Given the description of an element on the screen output the (x, y) to click on. 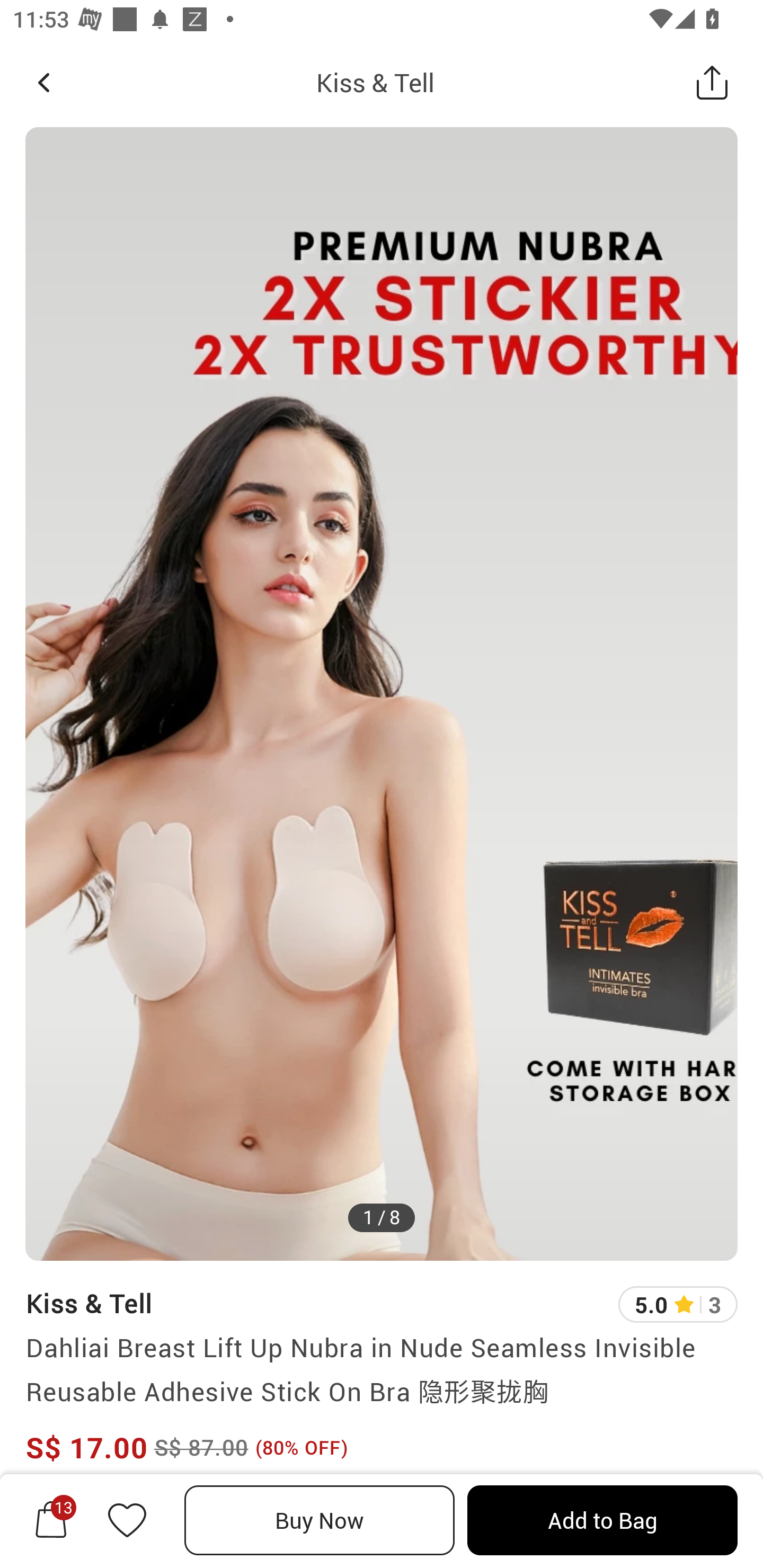
Kiss & Tell (375, 82)
Share this Product (711, 82)
Kiss & Tell (88, 1302)
5.0 3 (677, 1304)
Buy Now (319, 1519)
Add to Bag (601, 1519)
13 (50, 1520)
